Given the description of an element on the screen output the (x, y) to click on. 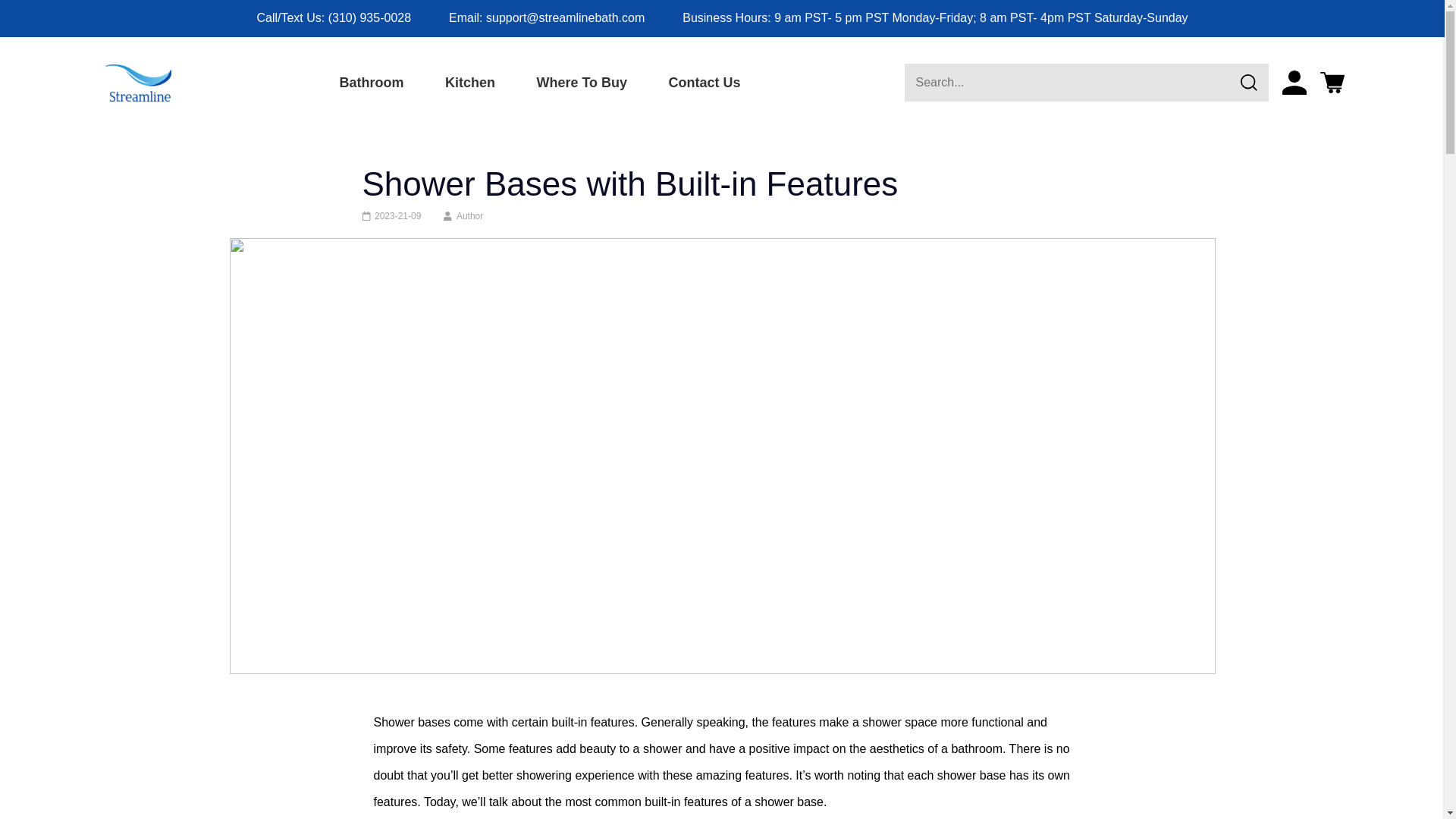
Where To Buy (581, 82)
Contact Us (705, 82)
Kitchen (469, 82)
Bathroom (370, 82)
